Given the description of an element on the screen output the (x, y) to click on. 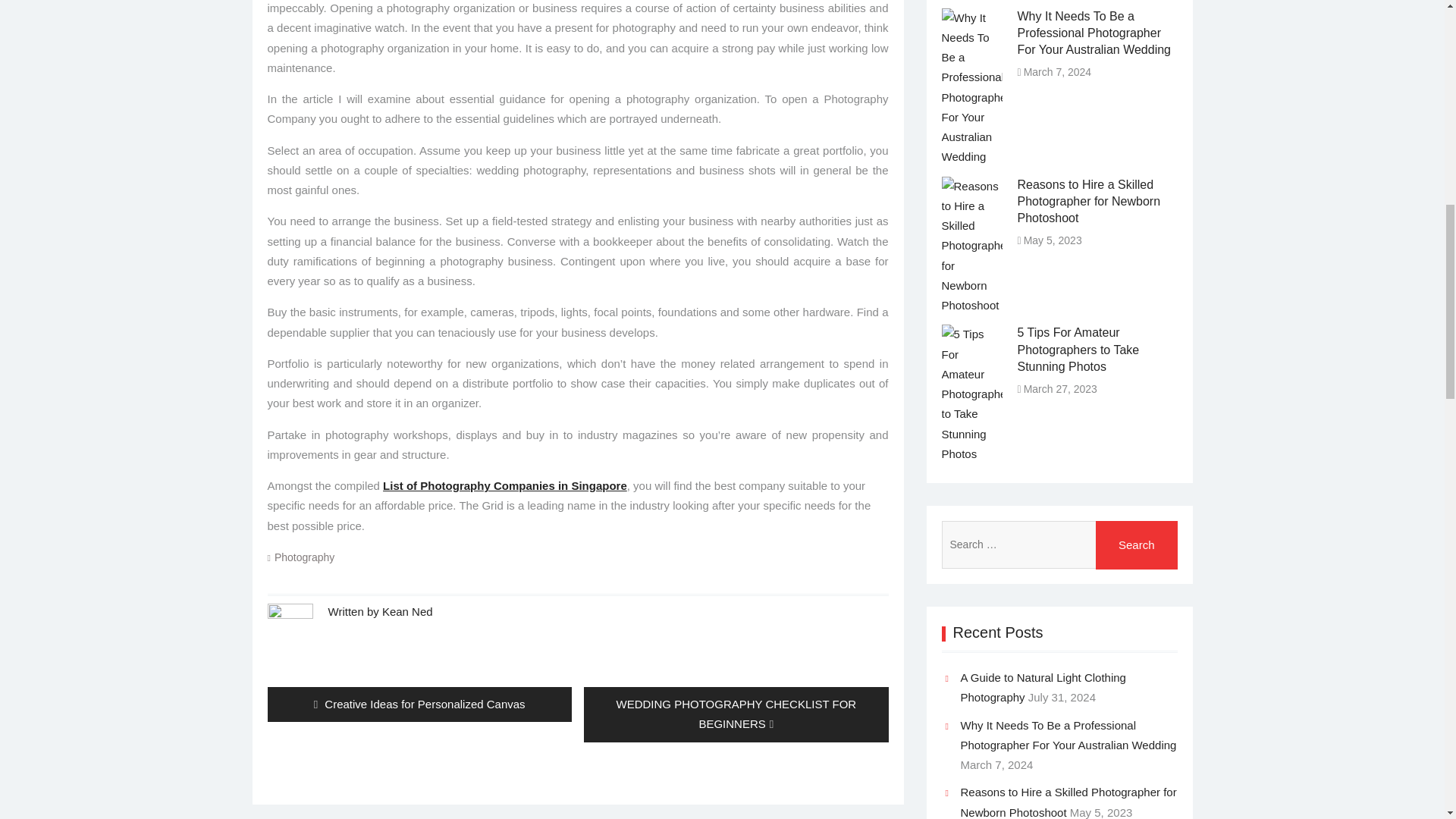
Photography (304, 557)
Posts by Kean Ned (406, 611)
Search (1136, 544)
List of Photography Companies in Singapore (418, 704)
Search (504, 485)
Kean Ned (1136, 544)
